Given the description of an element on the screen output the (x, y) to click on. 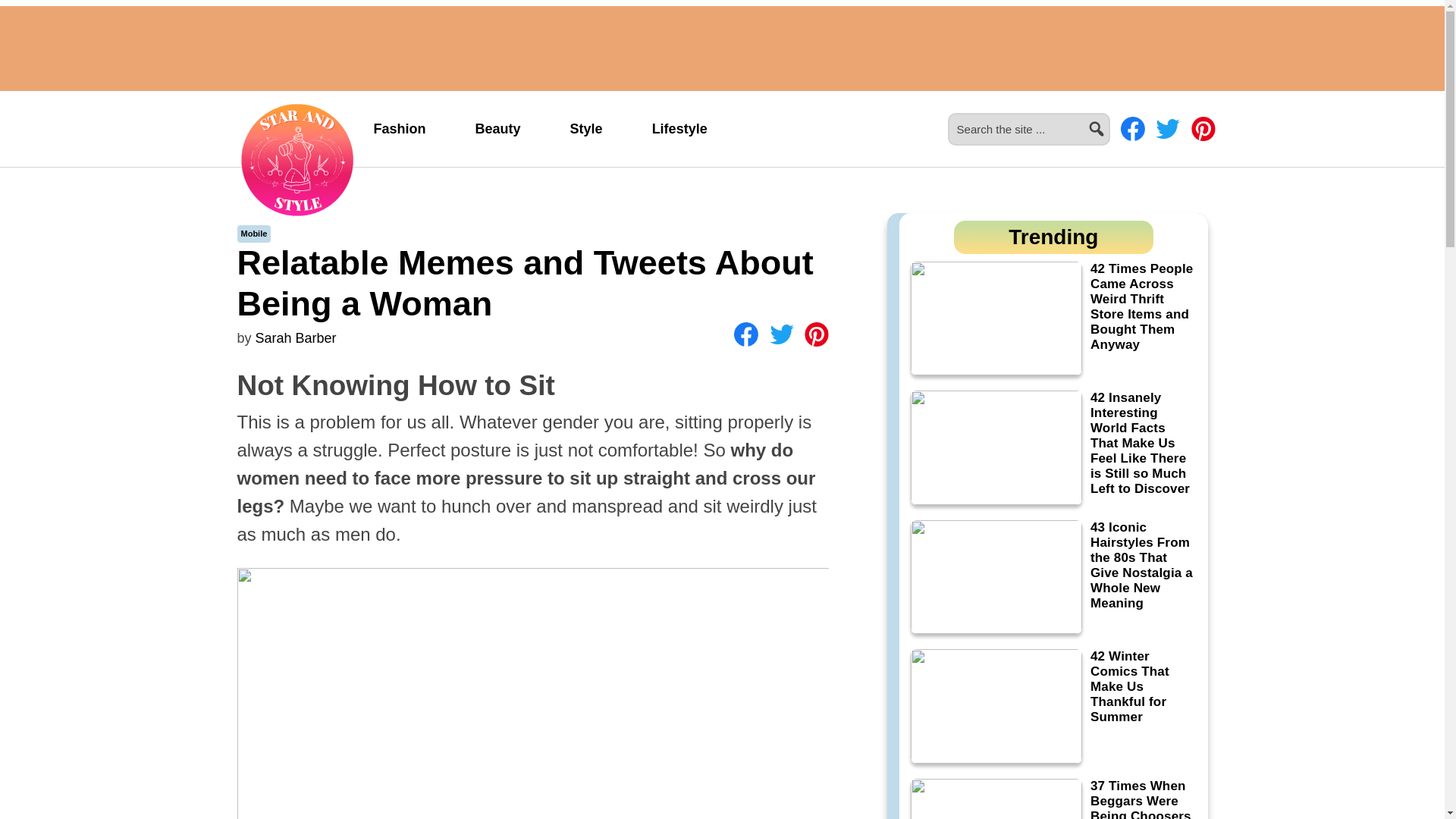
Search (1116, 119)
Sarah Barber (296, 337)
Search (1116, 119)
Style (586, 128)
Mobile (254, 233)
Beauty (497, 128)
